Given the description of an element on the screen output the (x, y) to click on. 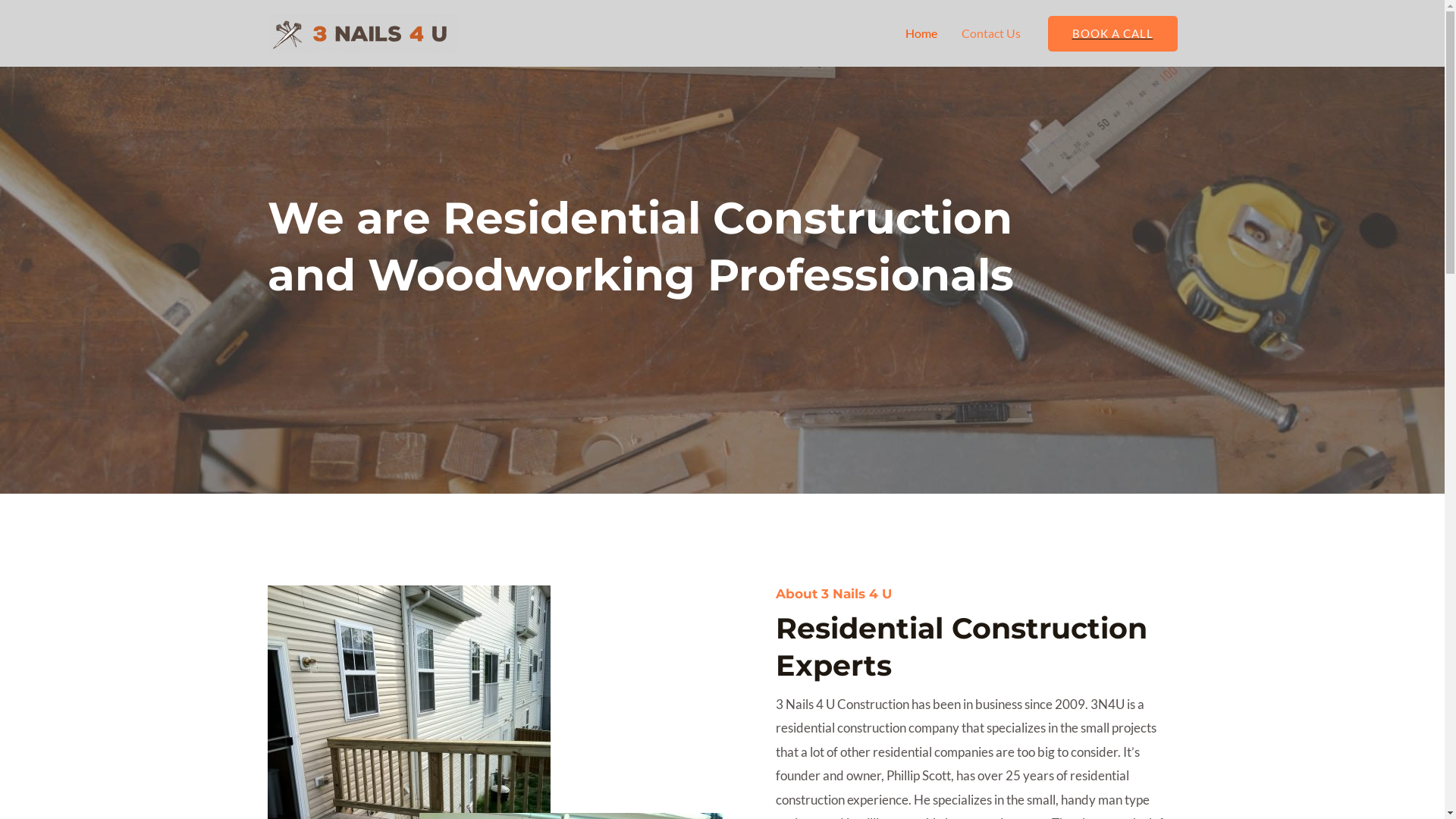
Contact Us Element type: text (990, 32)
Home Element type: text (921, 32)
BOOK A CALL Element type: text (1112, 32)
